Given the description of an element on the screen output the (x, y) to click on. 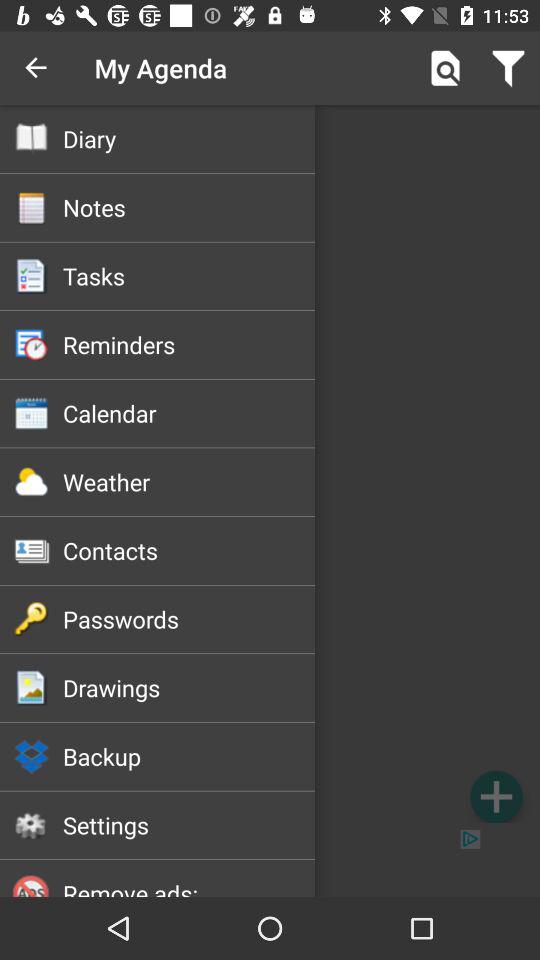
press reminders icon (188, 344)
